Given the description of an element on the screen output the (x, y) to click on. 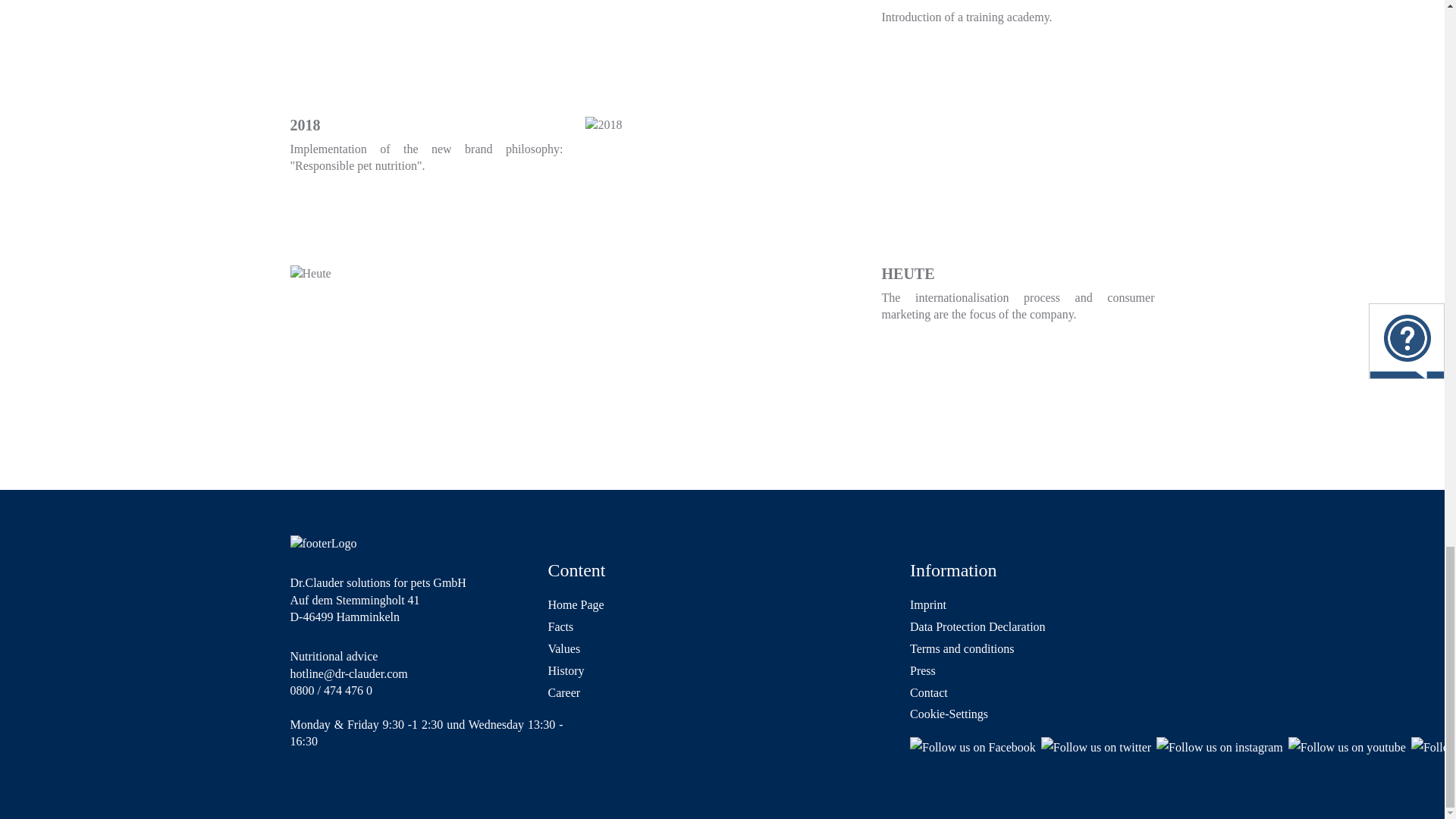
Follow us on twitter (1096, 748)
Follow us on instagram (1219, 748)
Follow us on Facebook (972, 748)
Follow us on youtube (1347, 748)
Follow us on pinterest (1433, 748)
